Given the description of an element on the screen output the (x, y) to click on. 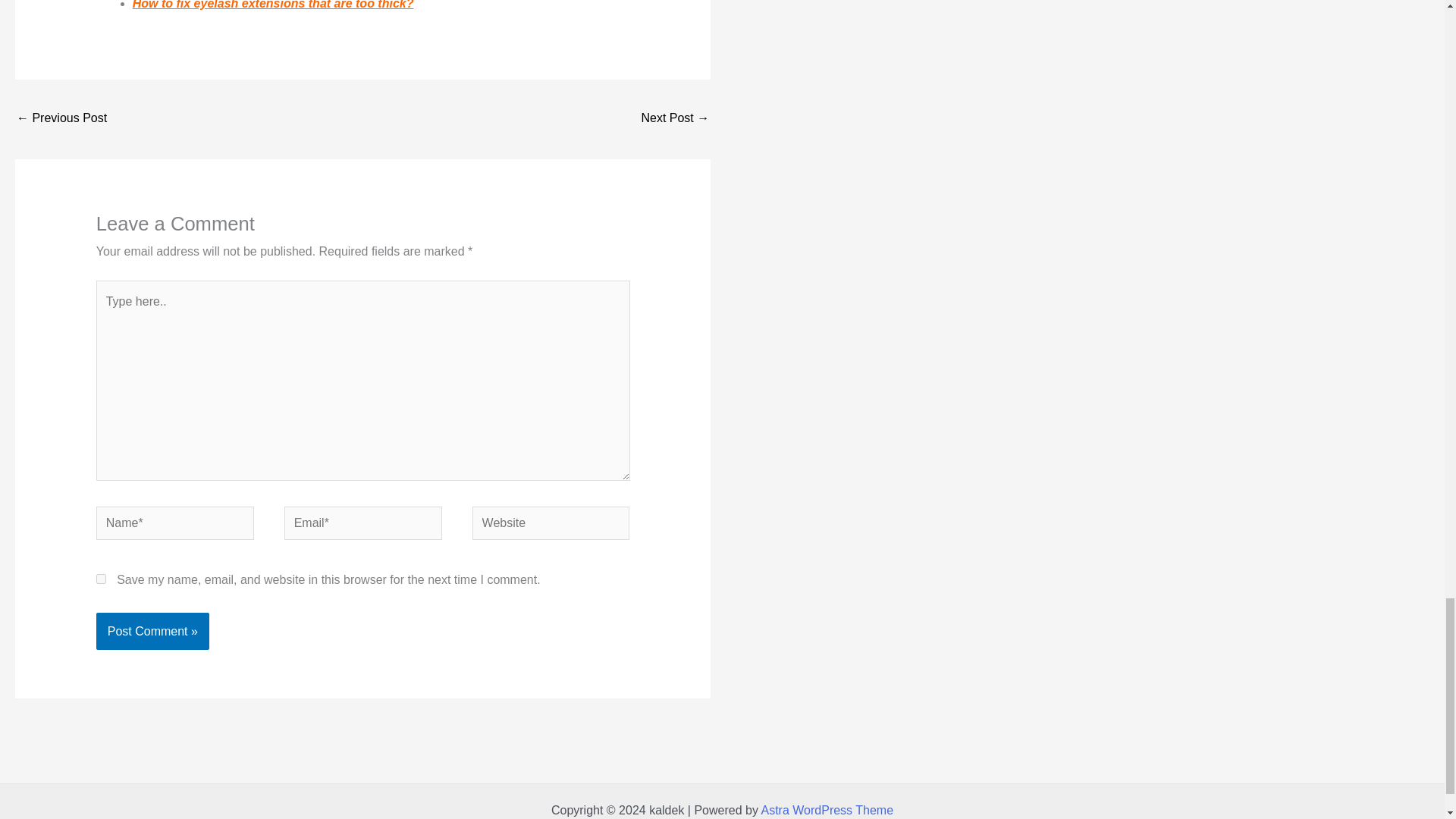
How to make minion goggles? (61, 119)
How to fix eyelash extensions that are too thick? (272, 4)
How to look like fashionable as Anne Hathaway? Who is this? (674, 119)
yes (101, 578)
